Given the description of an element on the screen output the (x, y) to click on. 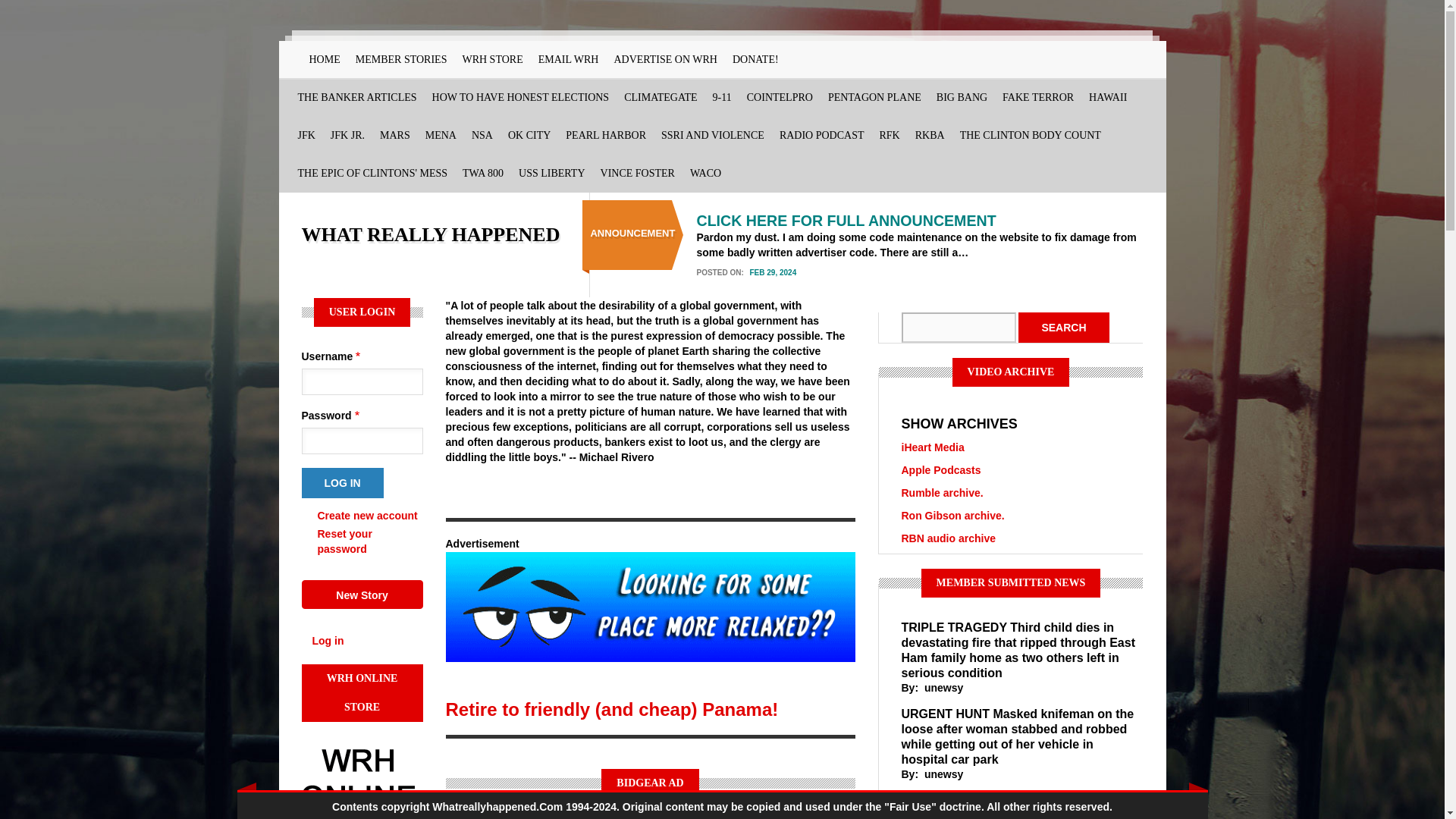
9-11 (721, 97)
RFK (889, 135)
JFK JR. (347, 135)
ADVERTISE ON WRH (665, 59)
OK CITY (528, 135)
PEARL HARBOR (605, 135)
USS LIBERTY (551, 173)
MARS (394, 135)
Enter the terms you wish to search for. (957, 327)
NSA (482, 135)
RADIO PODCAST (821, 135)
MEMBER STORIES (400, 59)
CLIMATEGATE (659, 97)
encyption challenge (482, 135)
BIG BANG (961, 97)
